Given the description of an element on the screen output the (x, y) to click on. 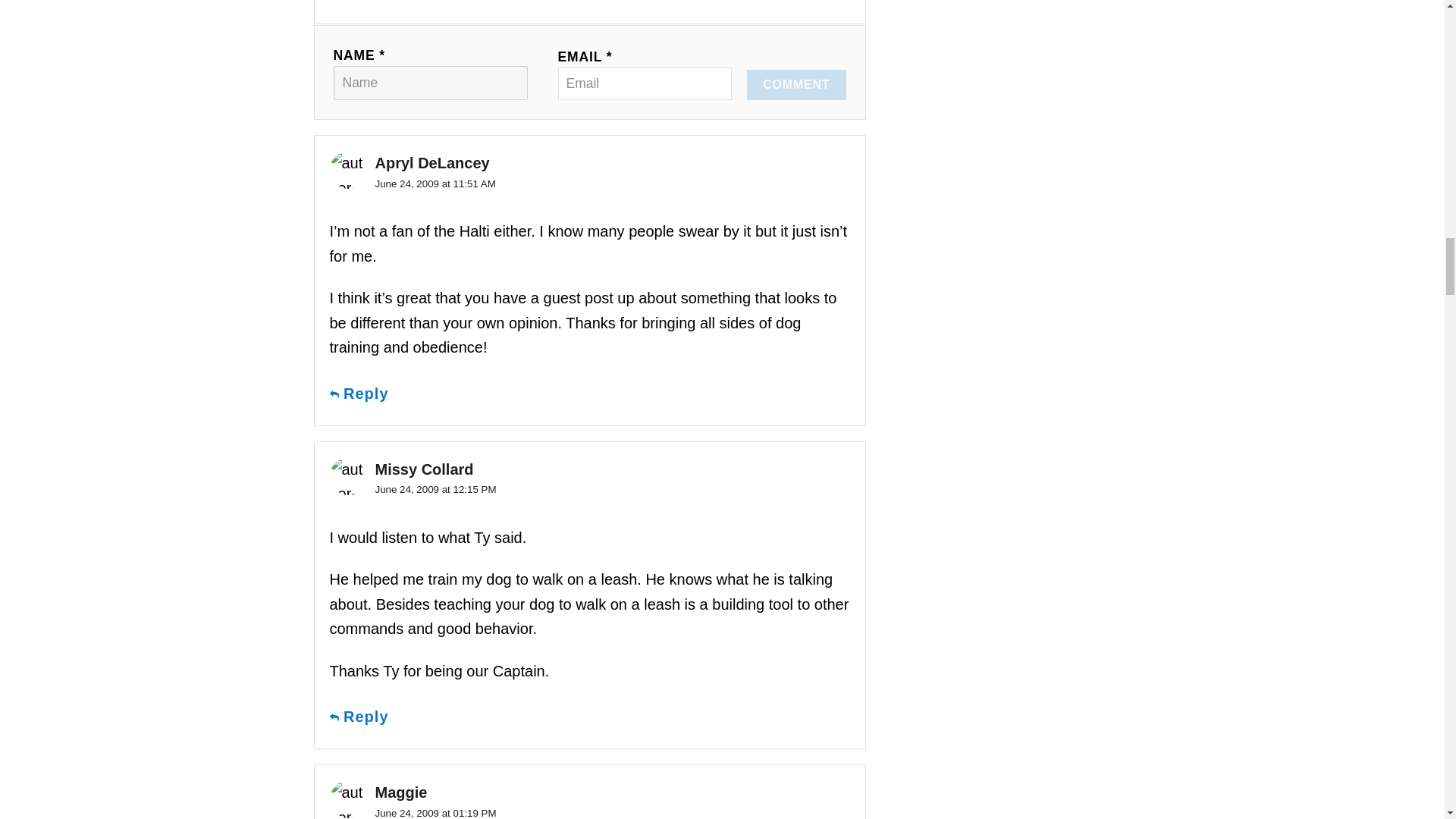
Reply (366, 393)
COMMENT (795, 84)
Reply (366, 717)
